Given the description of an element on the screen output the (x, y) to click on. 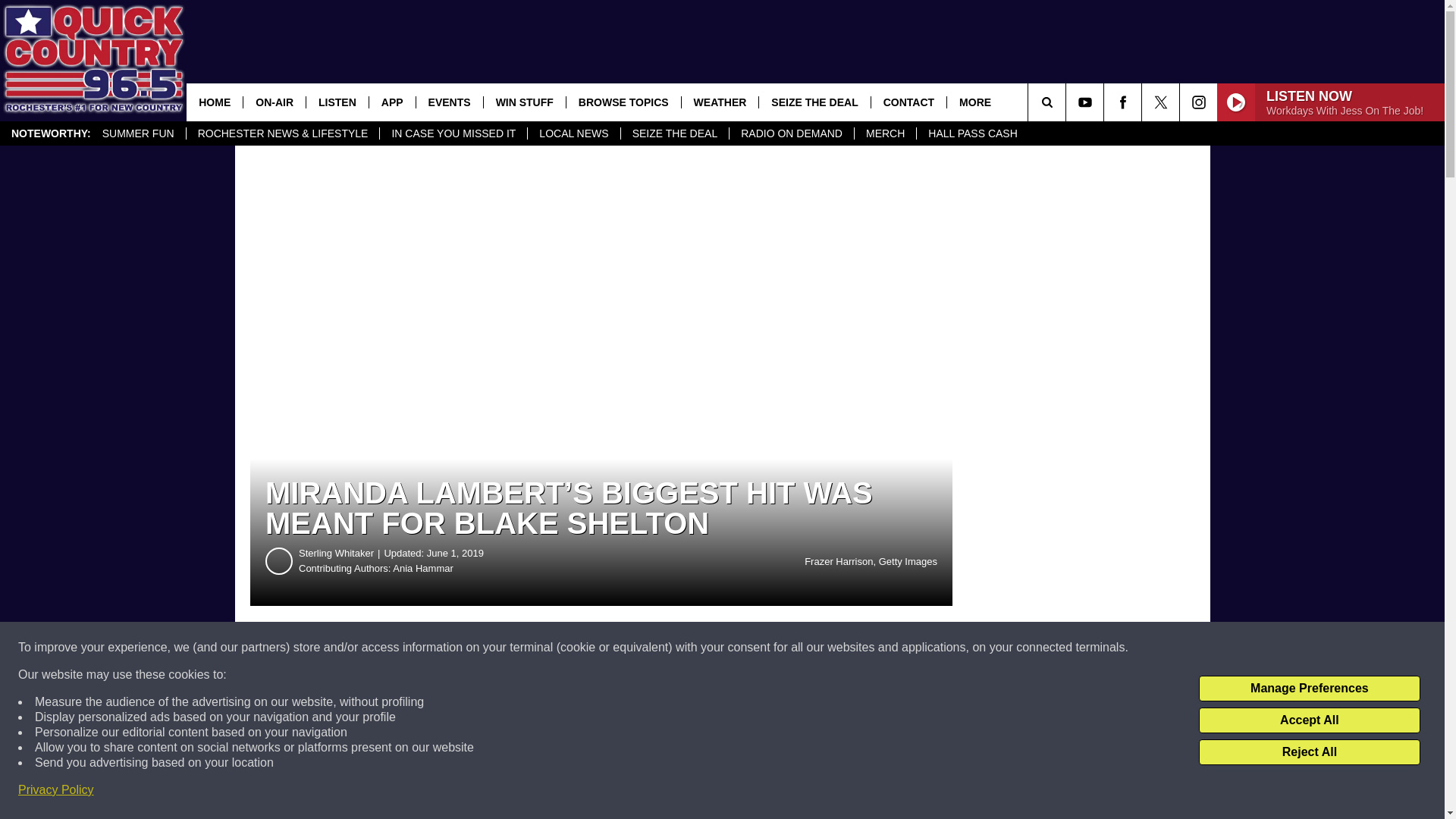
EVENTS (448, 102)
SUMMER FUN (138, 133)
LOCAL NEWS (573, 133)
LISTEN (336, 102)
Privacy Policy (55, 789)
Manage Preferences (1309, 688)
SEIZE THE DEAL (674, 133)
ON-AIR (274, 102)
Accept All (1309, 720)
Share on Twitter (741, 647)
APP (391, 102)
HALL PASS CASH (972, 133)
HOME (214, 102)
IN CASE YOU MISSED IT (452, 133)
Reject All (1309, 751)
